Given the description of an element on the screen output the (x, y) to click on. 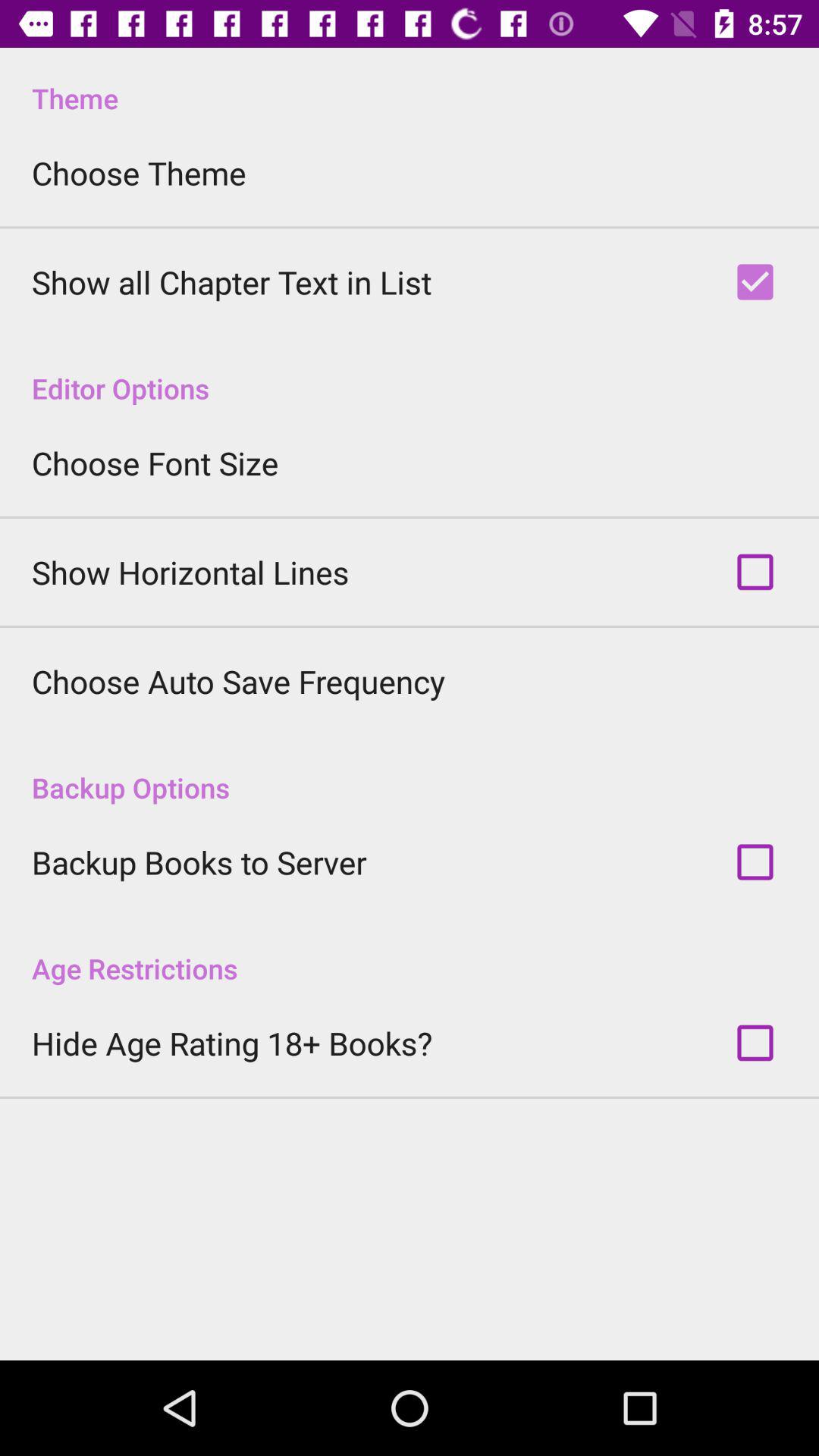
turn on the item below the choose theme (231, 281)
